Given the description of an element on the screen output the (x, y) to click on. 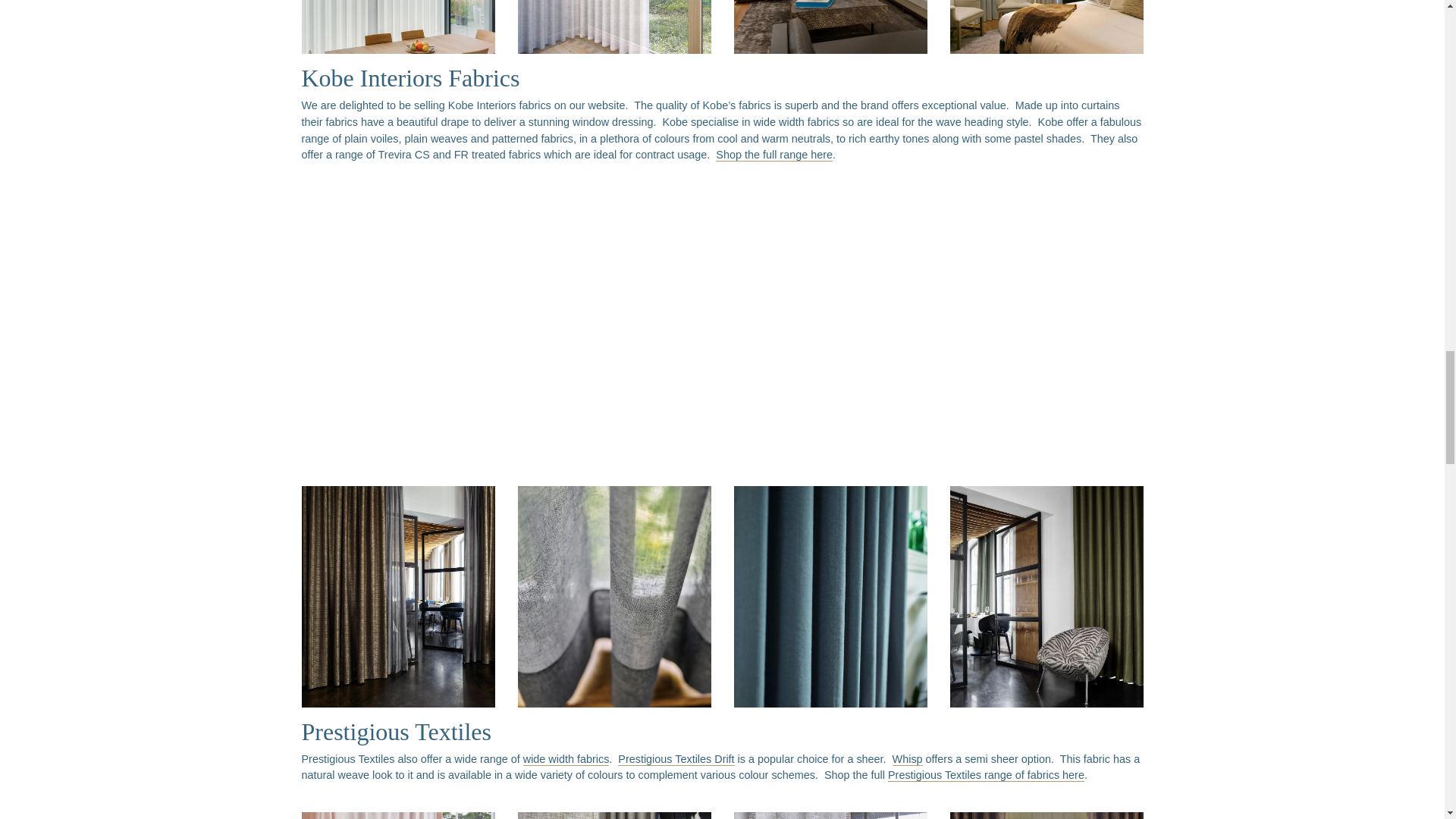
Kobe Interiors wide width fabric collections (544, 315)
